Given the description of an element on the screen output the (x, y) to click on. 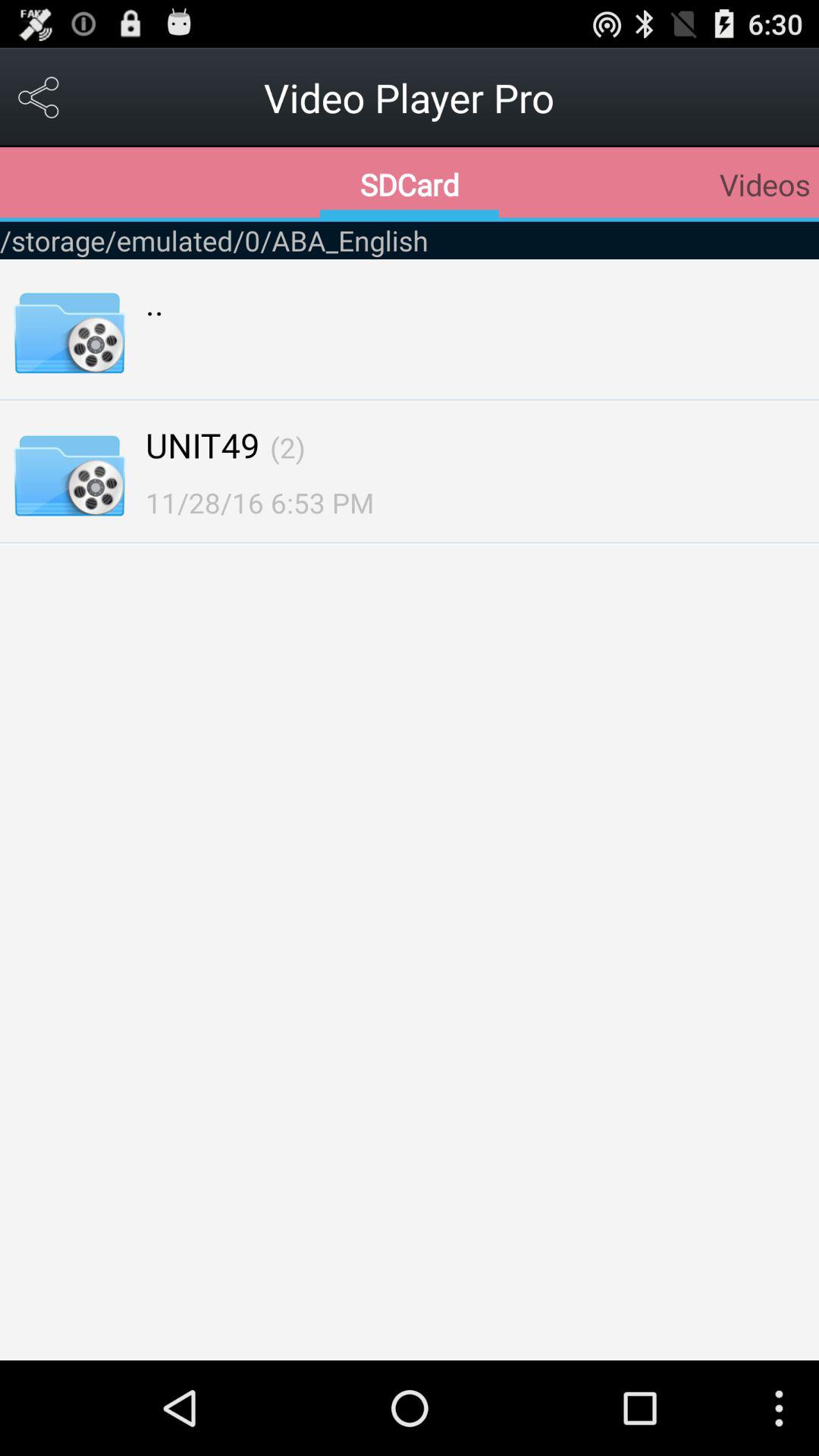
video player programe (39, 97)
